Given the description of an element on the screen output the (x, y) to click on. 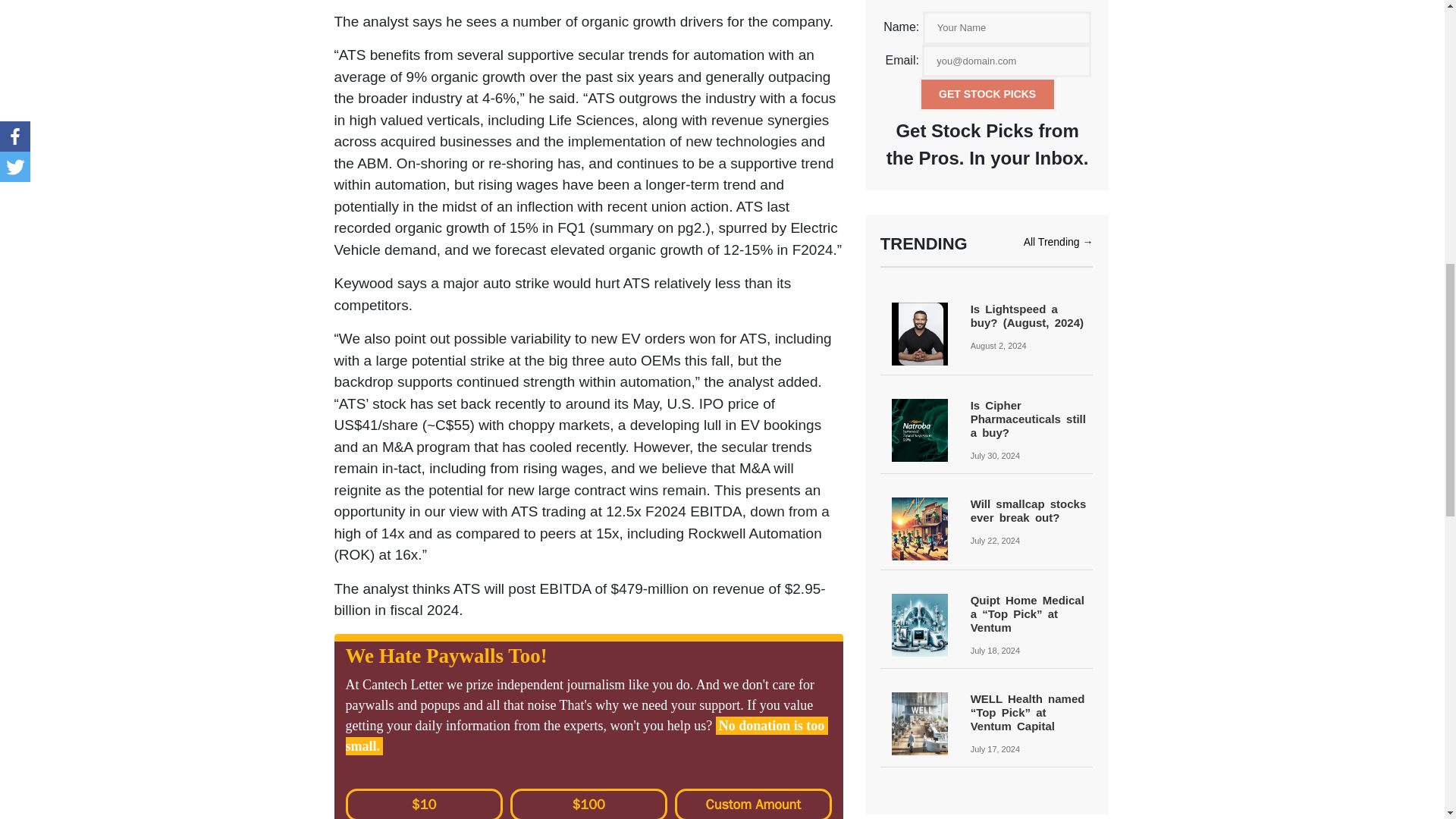
GET STOCK PICKS (987, 93)
